Given the description of an element on the screen output the (x, y) to click on. 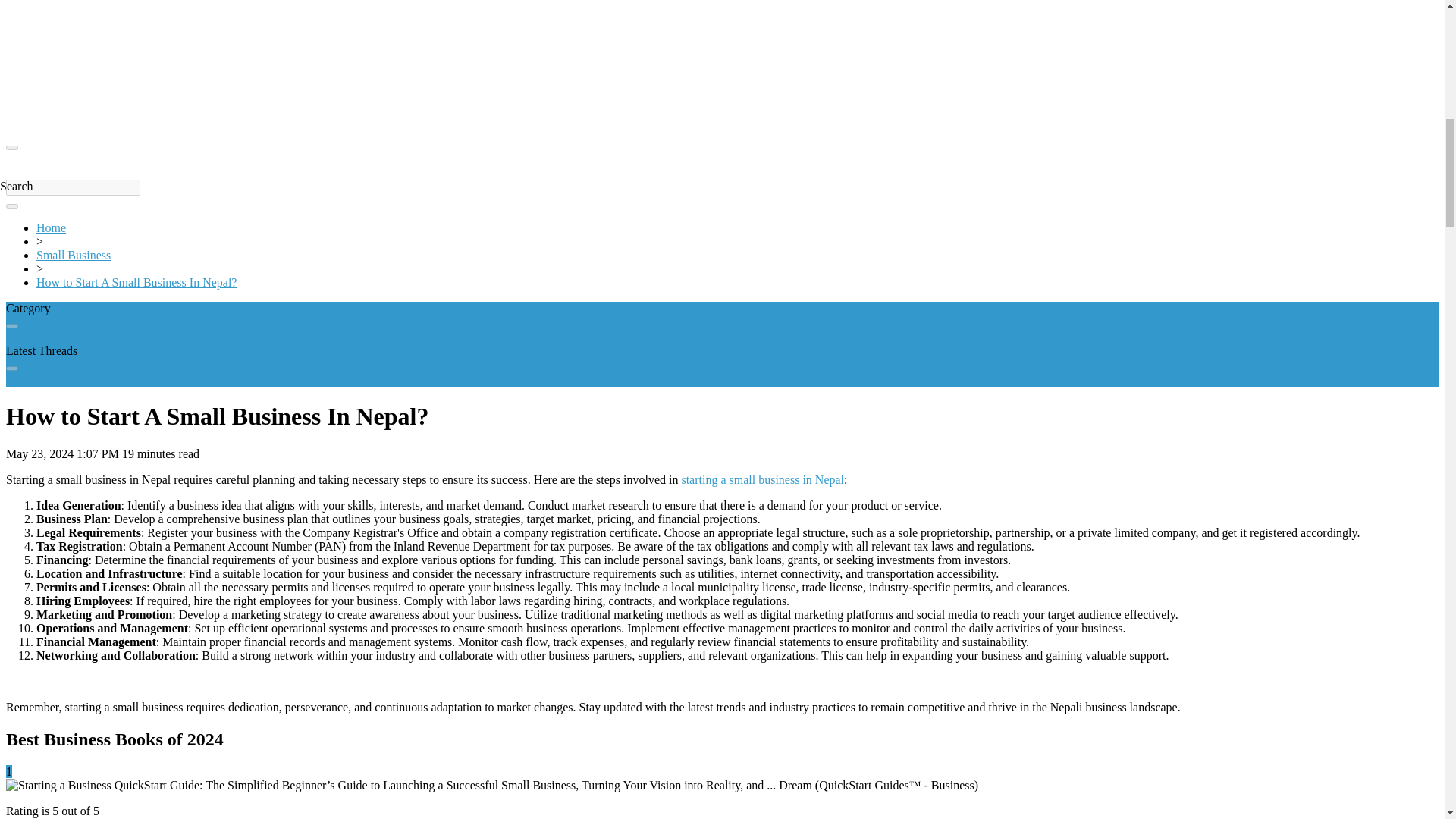
How to Start A Small Business In Nepal? (135, 282)
Home (50, 227)
starting a small business in Nepal (762, 479)
Small Business (73, 254)
